Given the description of an element on the screen output the (x, y) to click on. 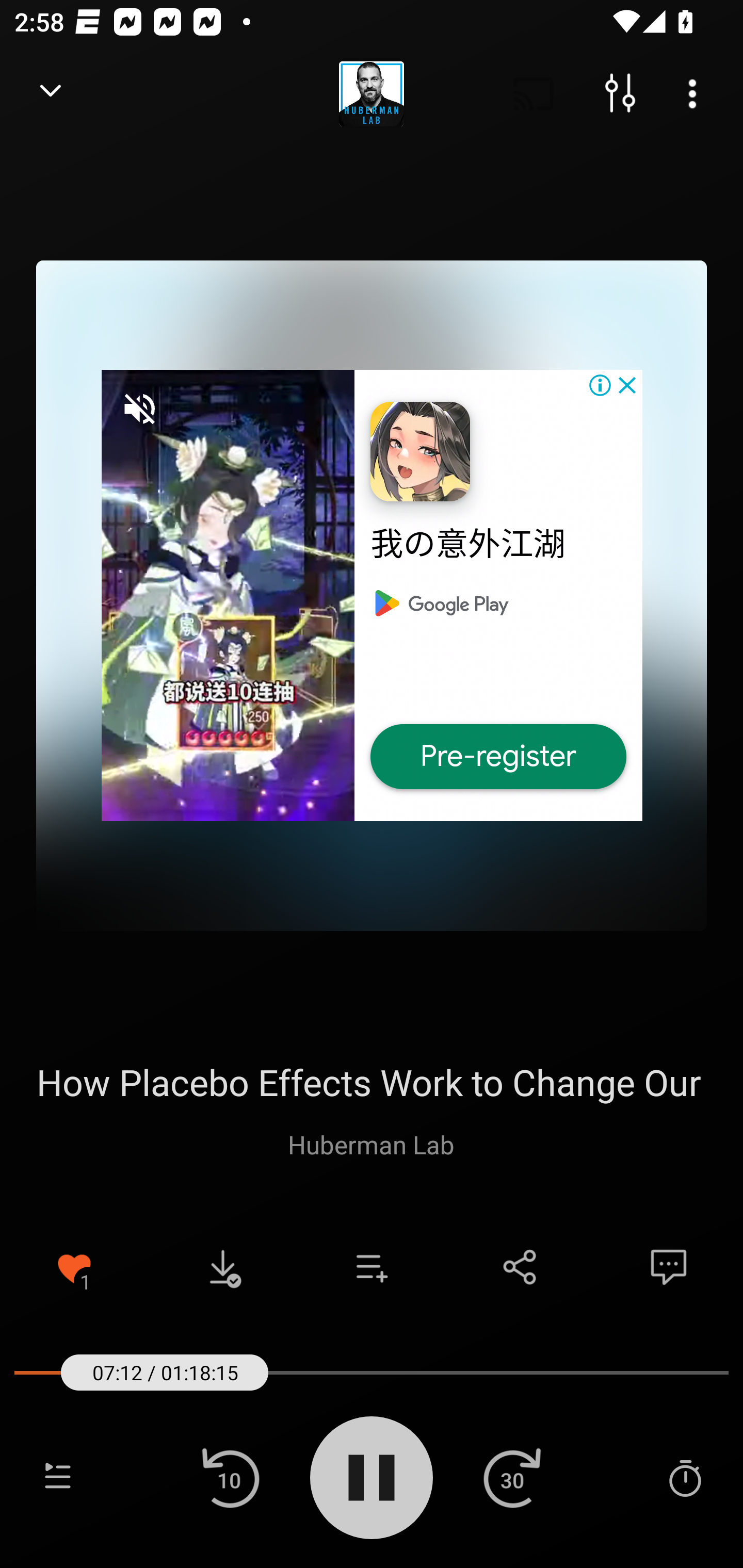
 Back (50, 94)
我の意外江湖 Pre-register Pre-register (371, 595)
Pre-register (498, 757)
Huberman Lab (370, 1144)
Comments (668, 1266)
Remove from Favorites (73, 1266)
Add to playlist (371, 1266)
Share (519, 1266)
 Playlist (57, 1477)
Sleep Timer  (684, 1477)
